Given the description of an element on the screen output the (x, y) to click on. 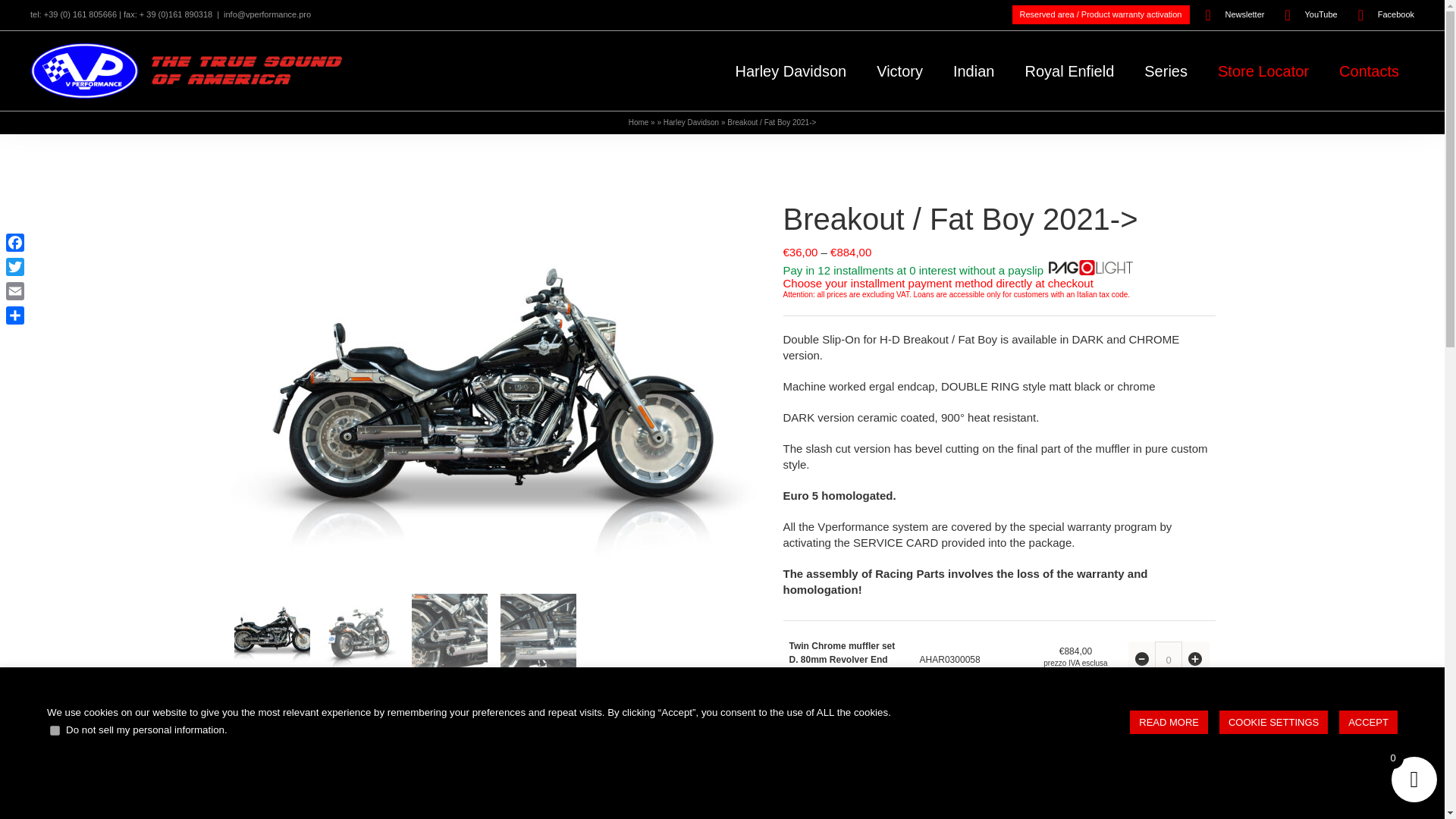
Contacts (1368, 70)
Store Locator (1262, 70)
Qty (1167, 705)
Victory (899, 70)
Series (1165, 70)
Qty (1167, 793)
0 (1167, 793)
Qty (1167, 660)
YouTube (1310, 15)
Qty (1167, 750)
Facebook (1380, 15)
Newsletter (1234, 15)
Harley Davidson (691, 121)
0 (1167, 660)
